Given the description of an element on the screen output the (x, y) to click on. 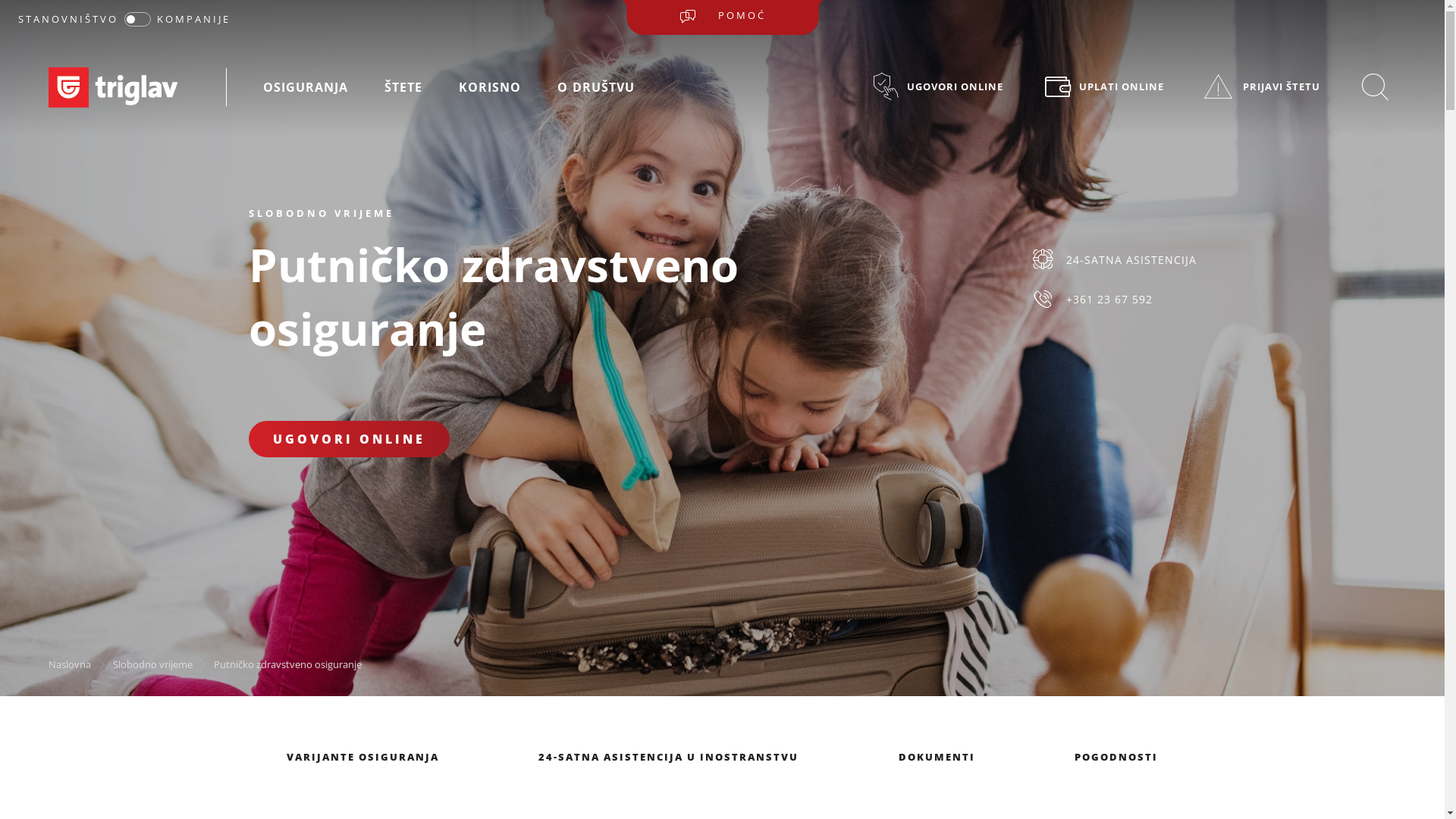
KORISNO Element type: text (489, 87)
KOMPANIJE Element type: text (193, 18)
Slobodno vrijeme Element type: text (152, 664)
UGOVORI ONLINE Element type: text (348, 438)
Naslovna Element type: text (69, 664)
UPLATI ONLINE Element type: text (1103, 85)
+361 23 67 592 Element type: text (1113, 299)
UGOVORI ONLINE Element type: text (936, 85)
OSIGURANJA Element type: text (305, 87)
24-SATNA ASISTENCIJA Element type: text (1113, 259)
